Given the description of an element on the screen output the (x, y) to click on. 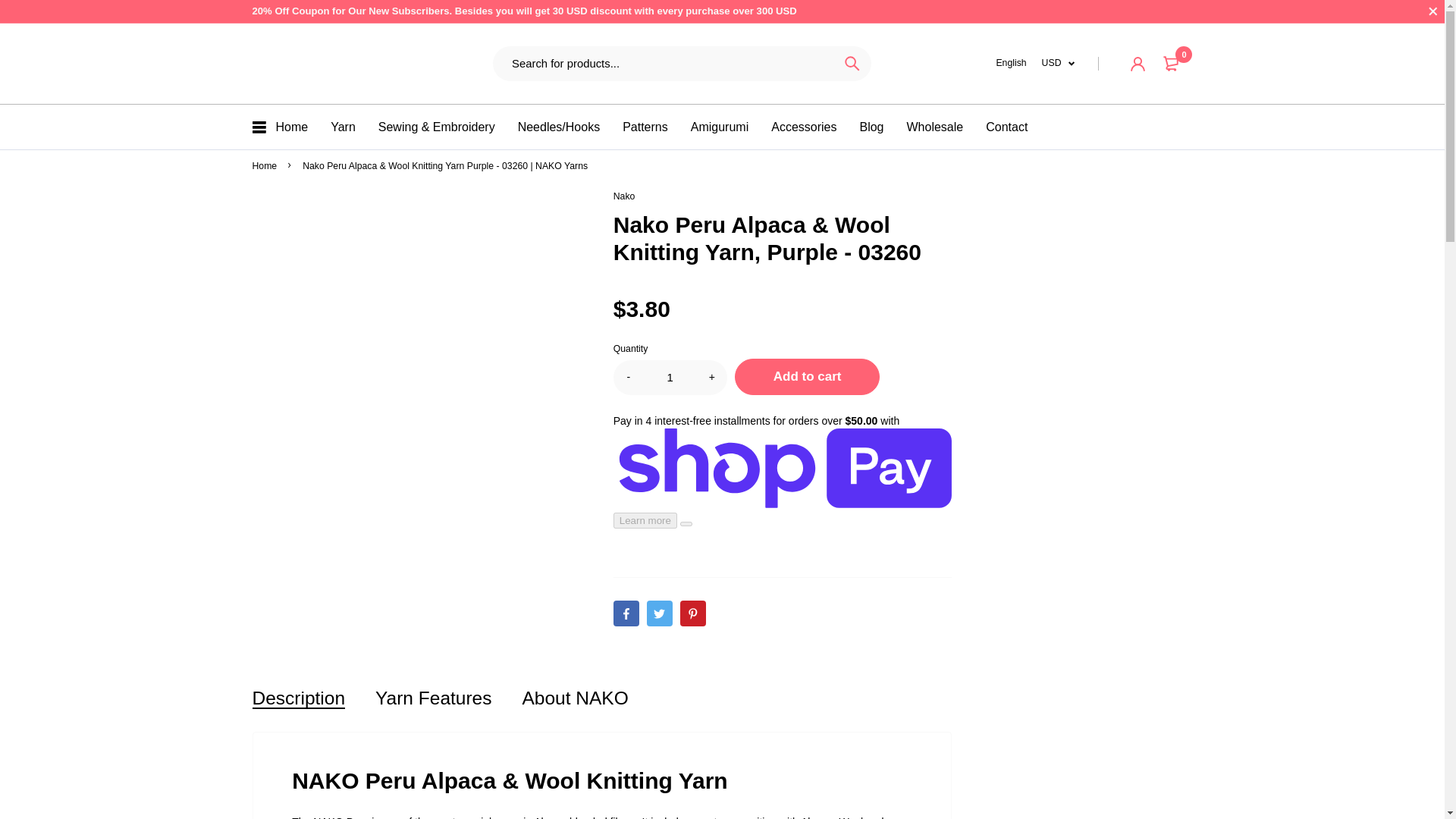
Pinterest (692, 613)
USD (1058, 63)
Twitter (659, 613)
Hobinisyarns (287, 63)
1 (669, 376)
English (1010, 63)
0 (1173, 63)
Facebook (625, 613)
